Given the description of an element on the screen output the (x, y) to click on. 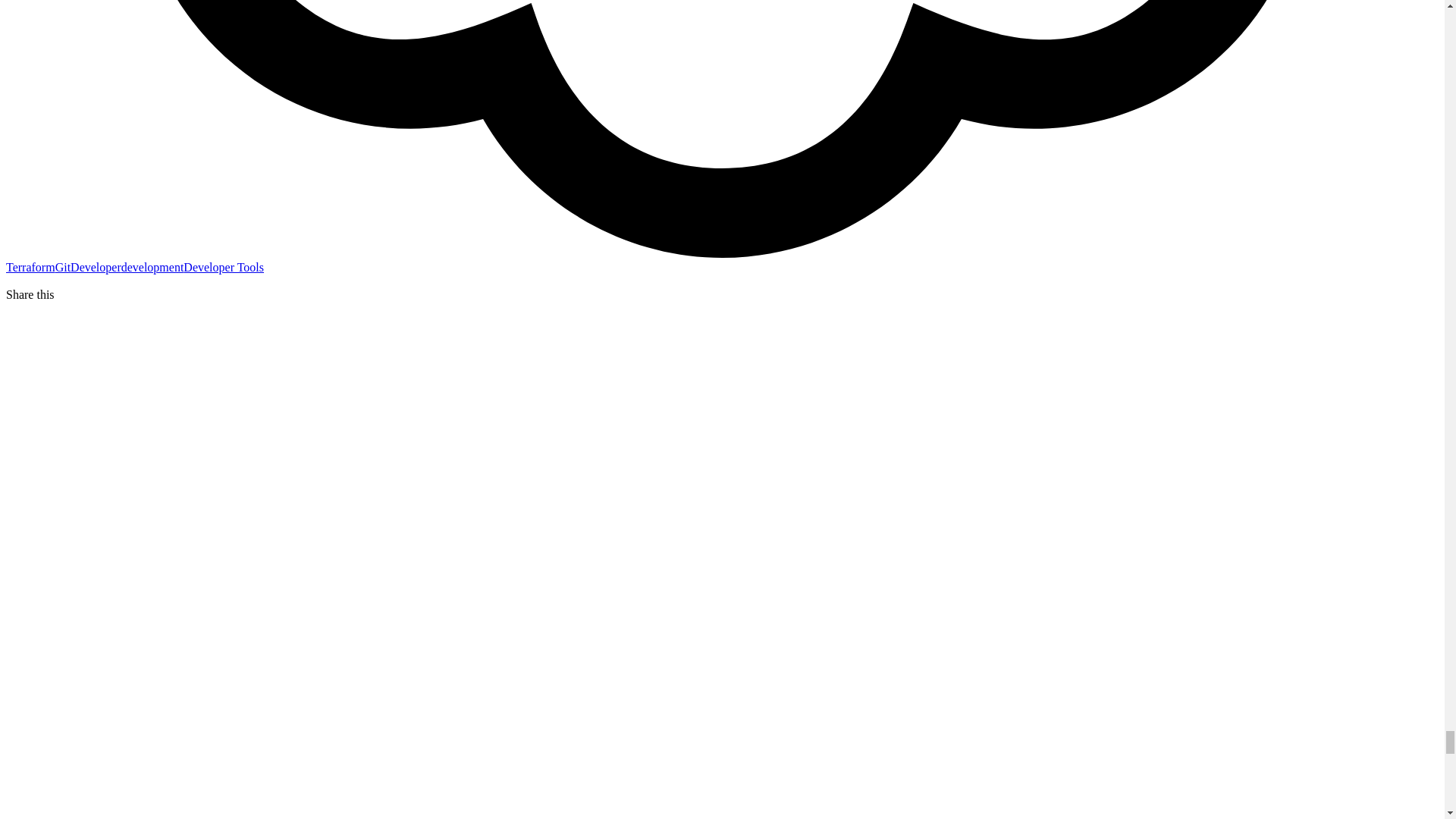
development (152, 267)
Git (62, 267)
Developer (94, 267)
Terraform (30, 267)
